Given the description of an element on the screen output the (x, y) to click on. 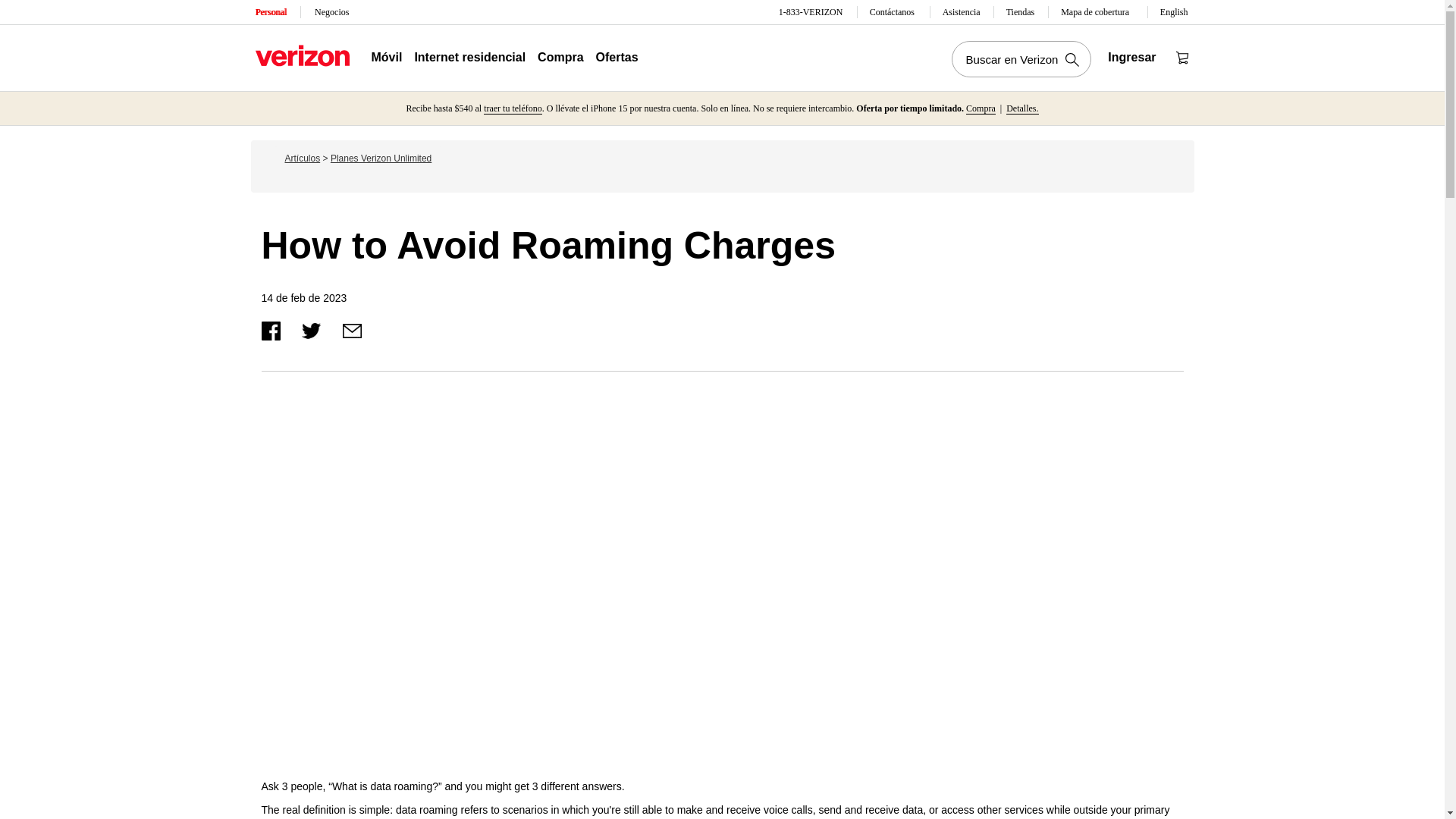
1-833-VERIZON (811, 12)
English (1174, 12)
Asistencia (961, 12)
Abre una ventana nueva (312, 329)
Mapa de cobertura (1098, 12)
Personal (271, 12)
Tiendas (1021, 12)
Abre una ventana nueva (351, 329)
Negocios (331, 12)
Internet residencial (469, 57)
Compra (560, 57)
Abre una ventana nueva (271, 329)
